Given the description of an element on the screen output the (x, y) to click on. 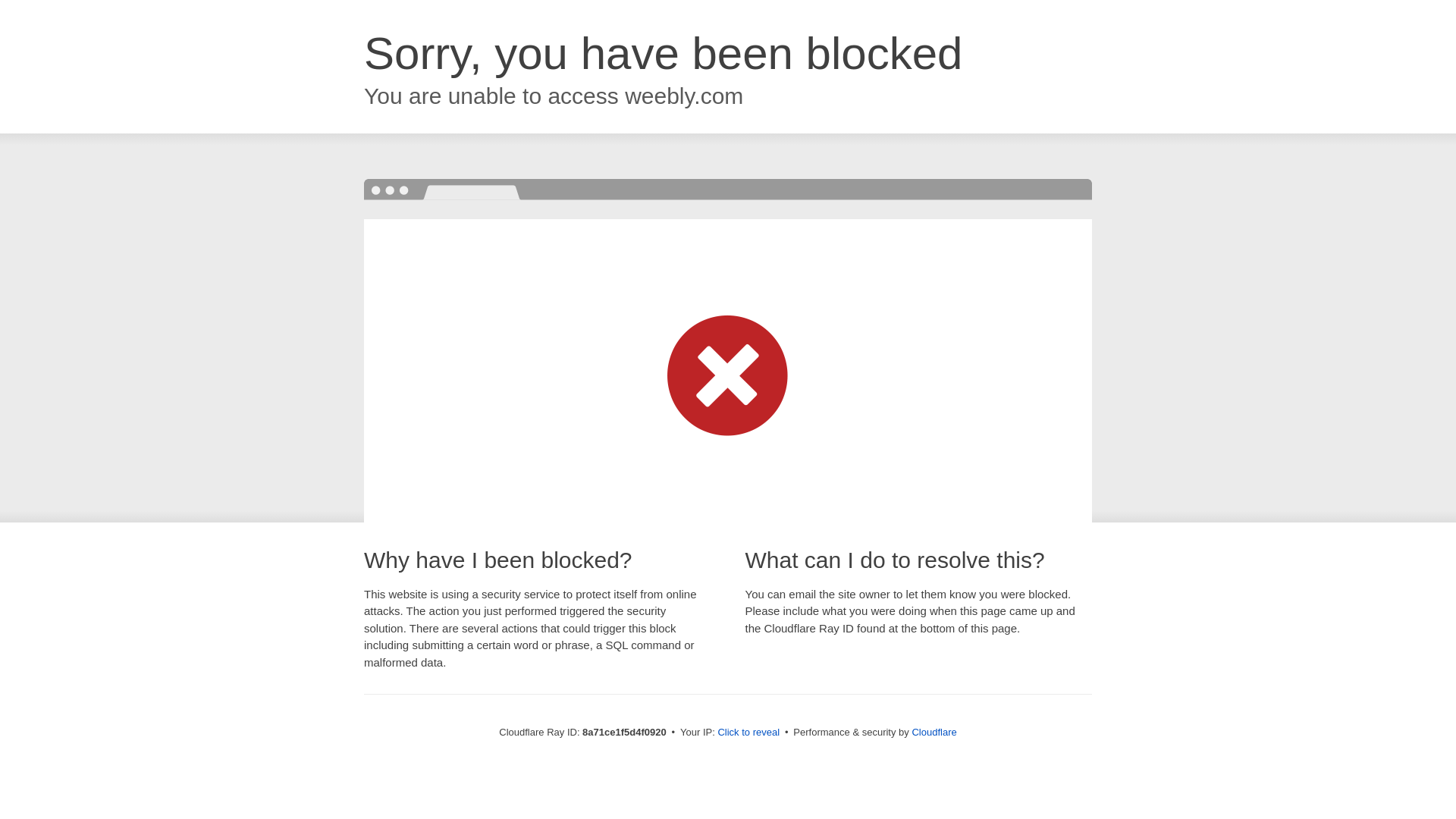
Cloudflare (933, 731)
Click to reveal (747, 732)
